Given the description of an element on the screen output the (x, y) to click on. 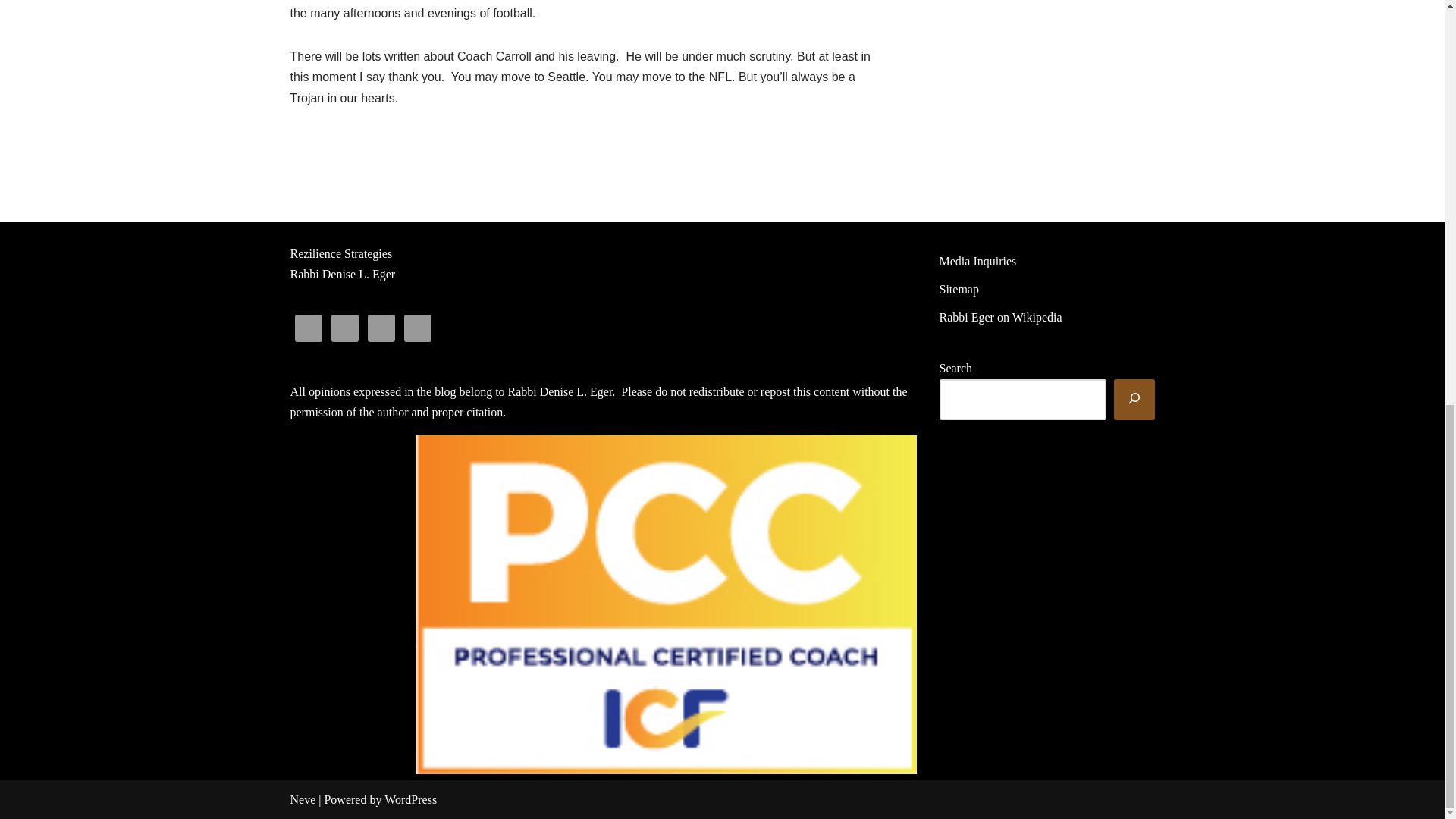
Sitemap (958, 288)
Media Inquiries (977, 260)
